Given the description of an element on the screen output the (x, y) to click on. 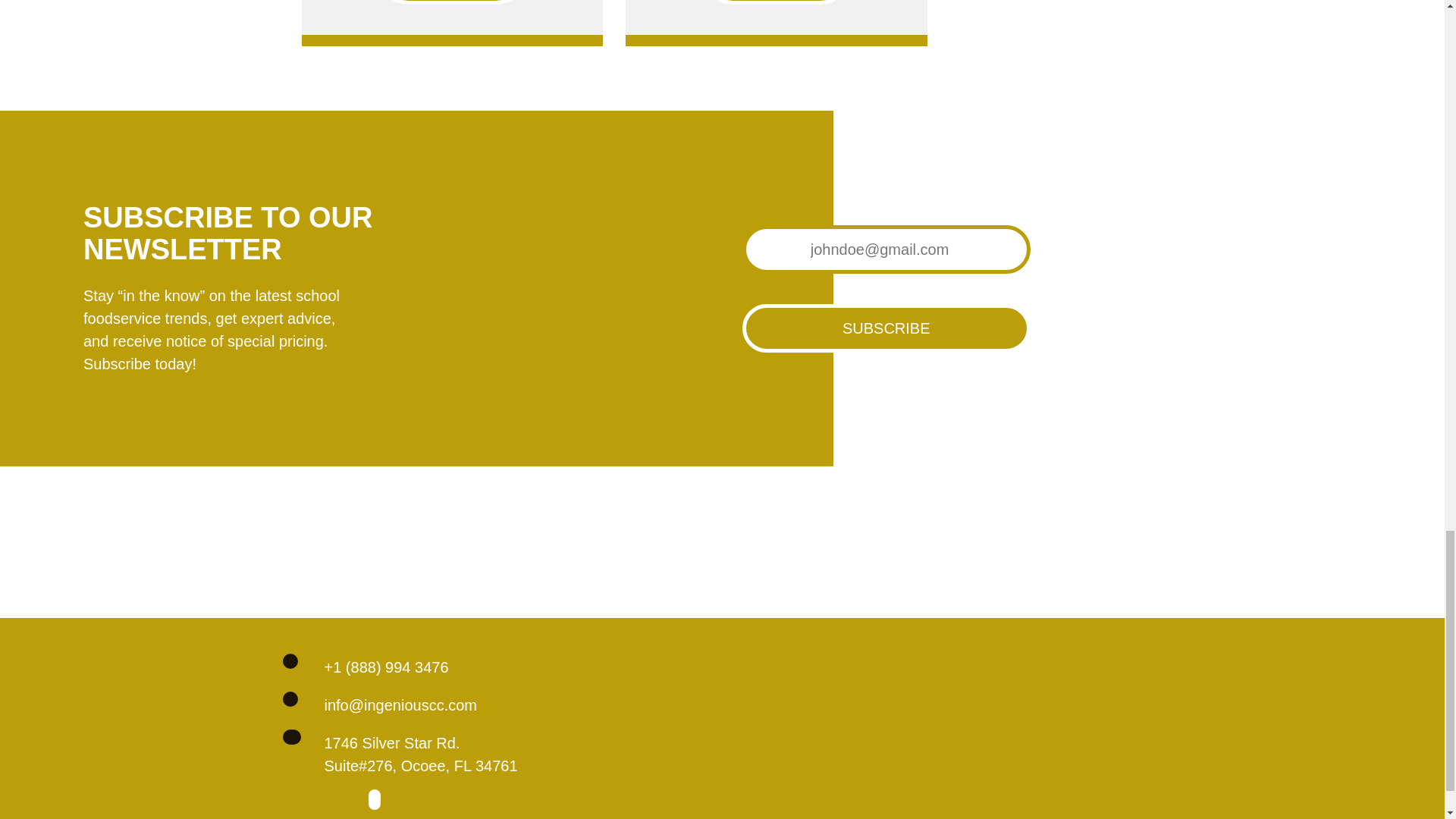
READ MORE (775, 2)
READ MORE (452, 2)
